Given the description of an element on the screen output the (x, y) to click on. 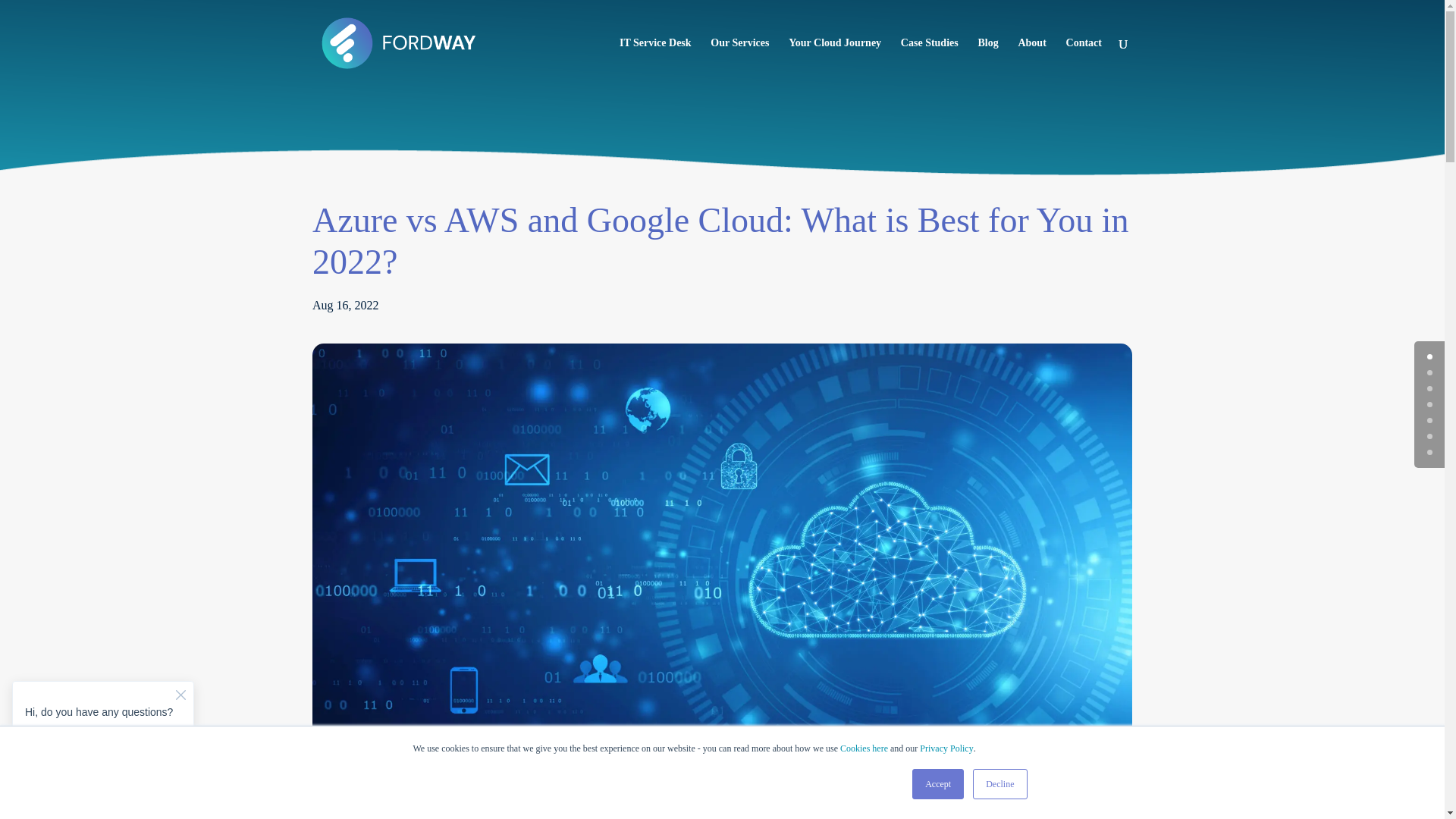
Decline (999, 784)
Your Cloud Journey (834, 61)
Accept (937, 784)
Chat Widget (103, 734)
Case Studies (929, 61)
Cookies here (864, 747)
IT Service Desk (655, 61)
Our Services (739, 61)
Privacy Policy (946, 747)
